Given the description of an element on the screen output the (x, y) to click on. 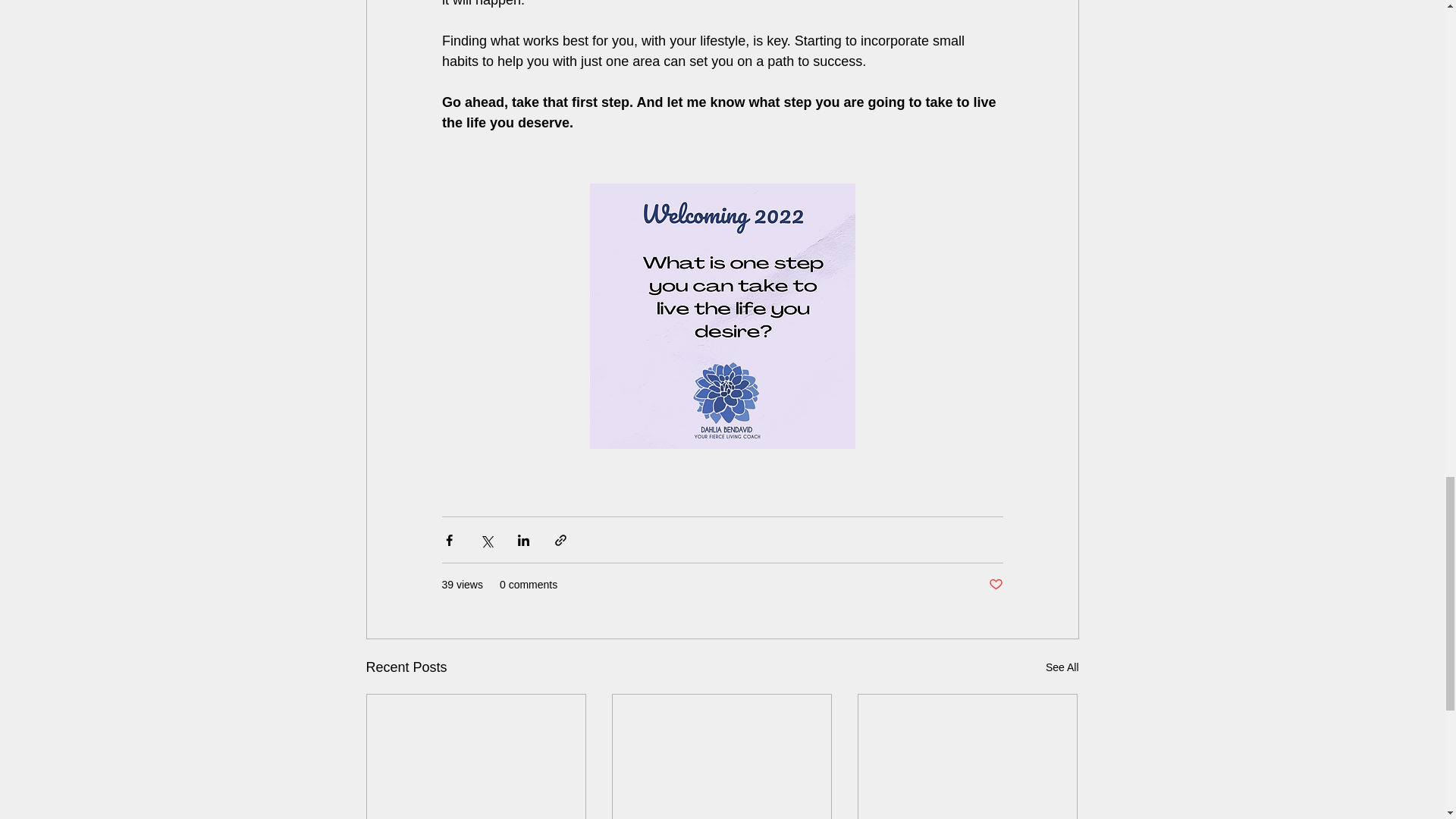
Post not marked as liked (995, 584)
See All (1061, 667)
